Given the description of an element on the screen output the (x, y) to click on. 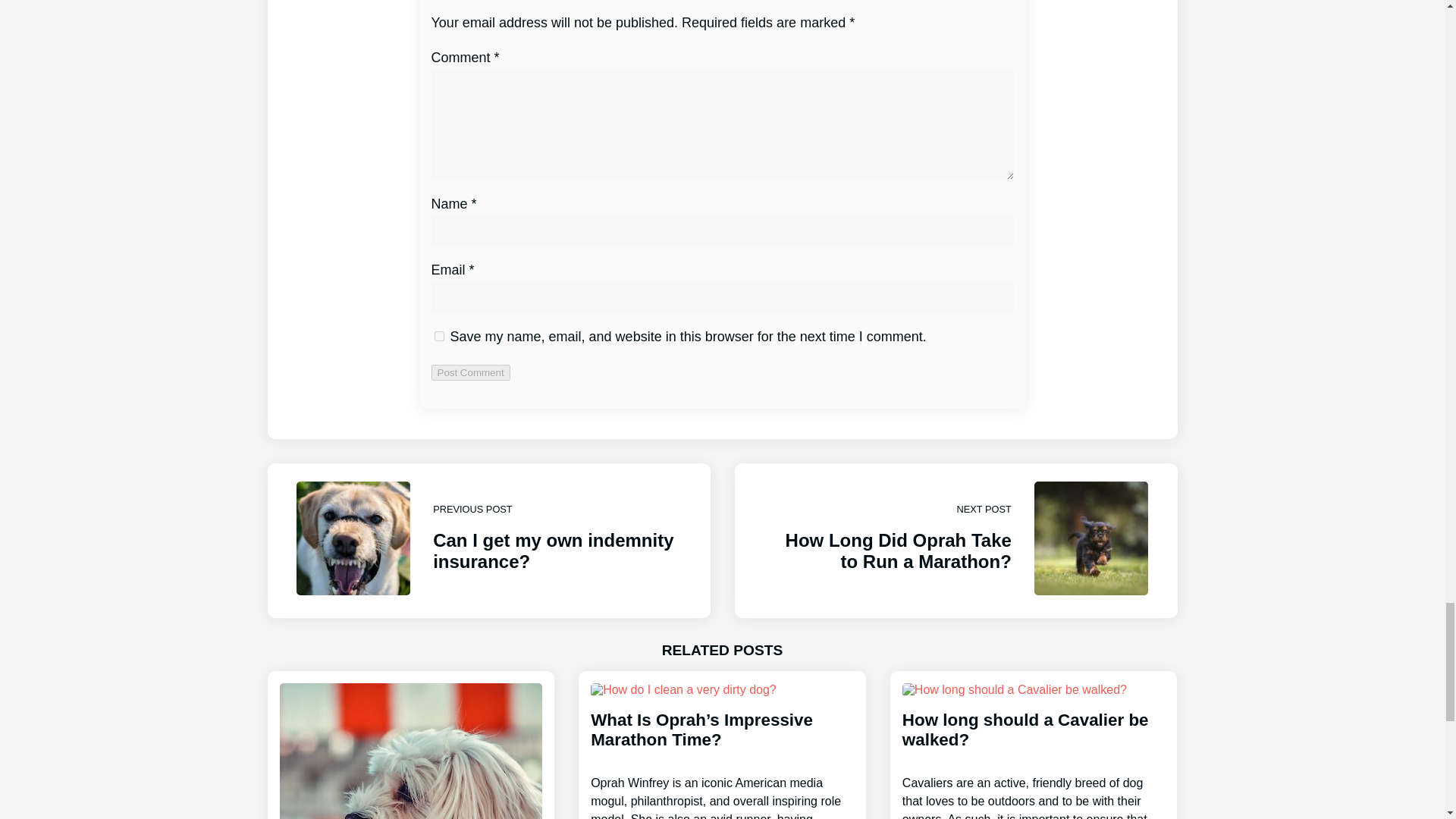
How long should a Cavalier be walked? (1034, 751)
yes (438, 336)
Post Comment (469, 372)
